Given the description of an element on the screen output the (x, y) to click on. 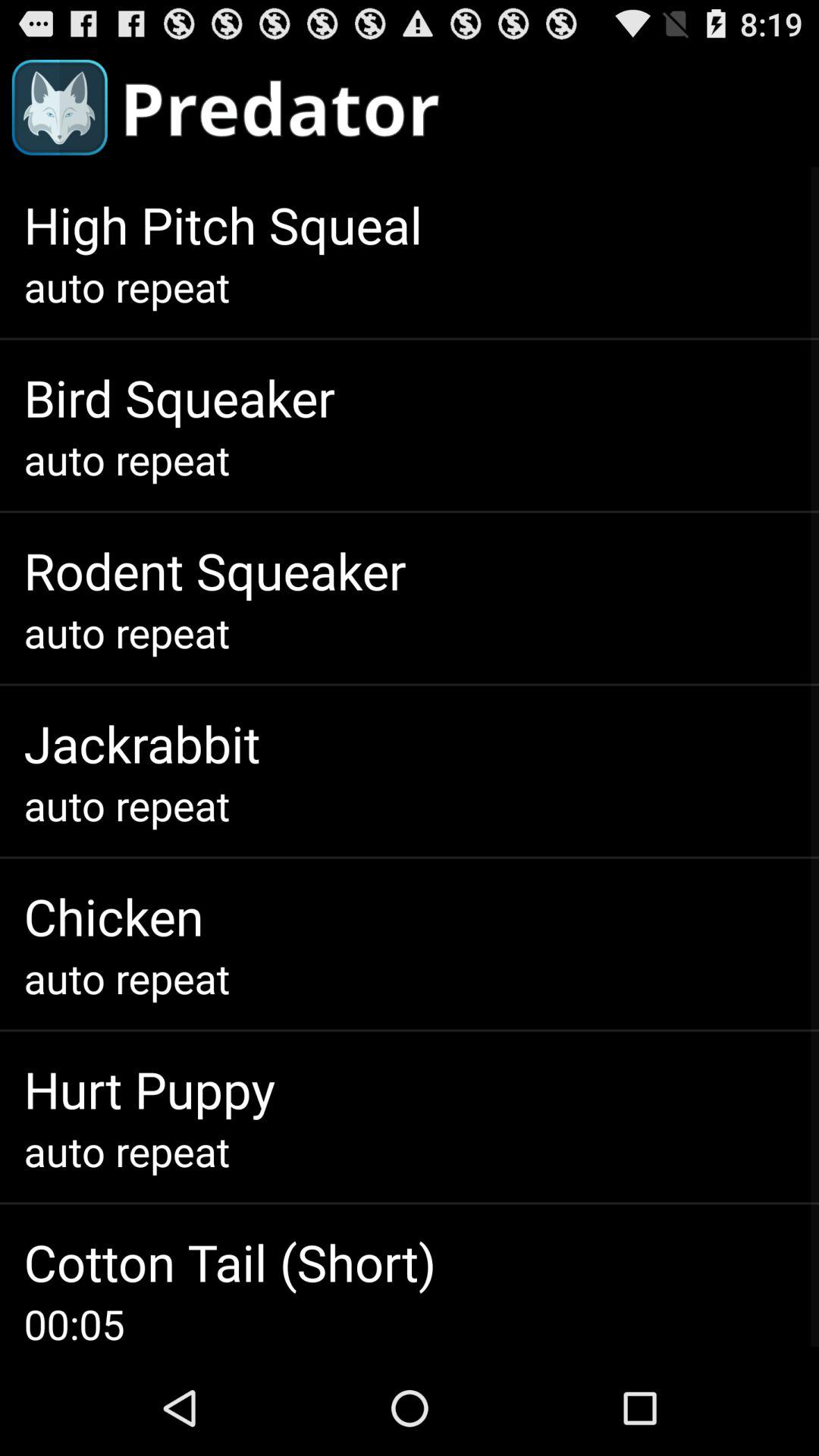
launch hurt puppy item (149, 1089)
